Given the description of an element on the screen output the (x, y) to click on. 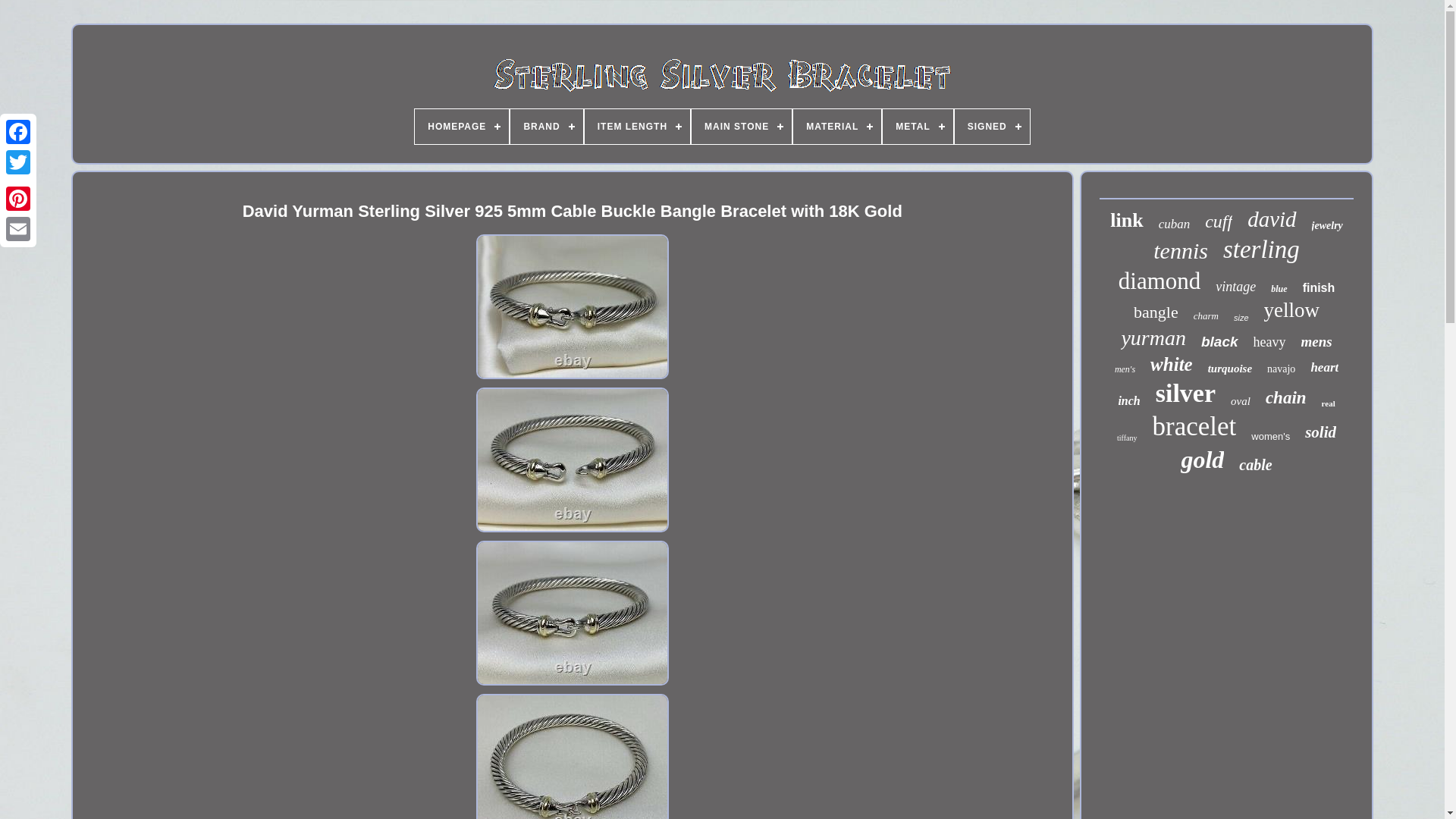
BRAND (546, 126)
HOMEPAGE (461, 126)
ITEM LENGTH (637, 126)
